Given the description of an element on the screen output the (x, y) to click on. 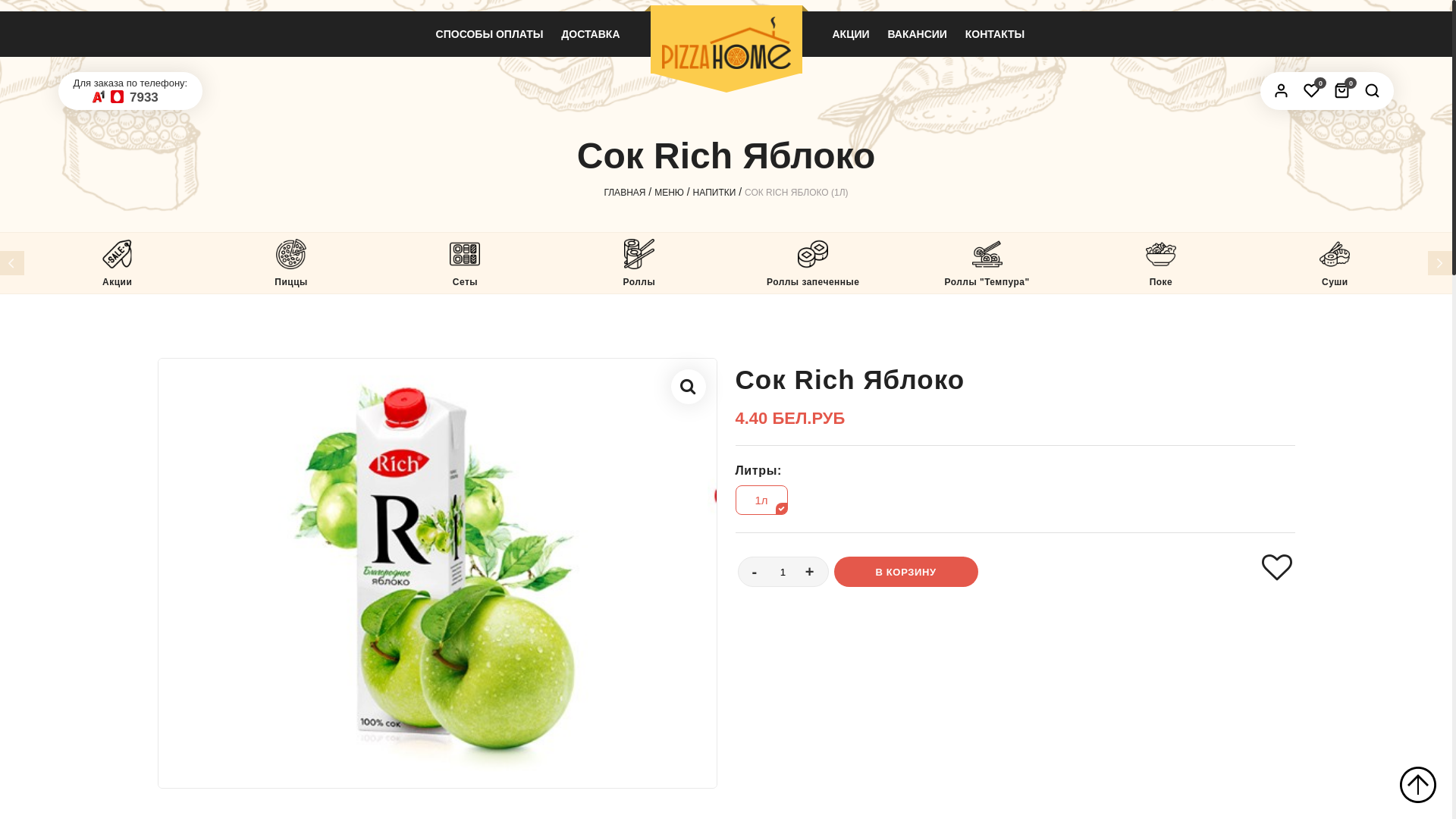
0 Element type: text (1311, 89)
- Element type: text (754, 571)
0 Element type: text (1341, 89)
7933 Element type: text (143, 97)
+ Element type: text (809, 571)
